Given the description of an element on the screen output the (x, y) to click on. 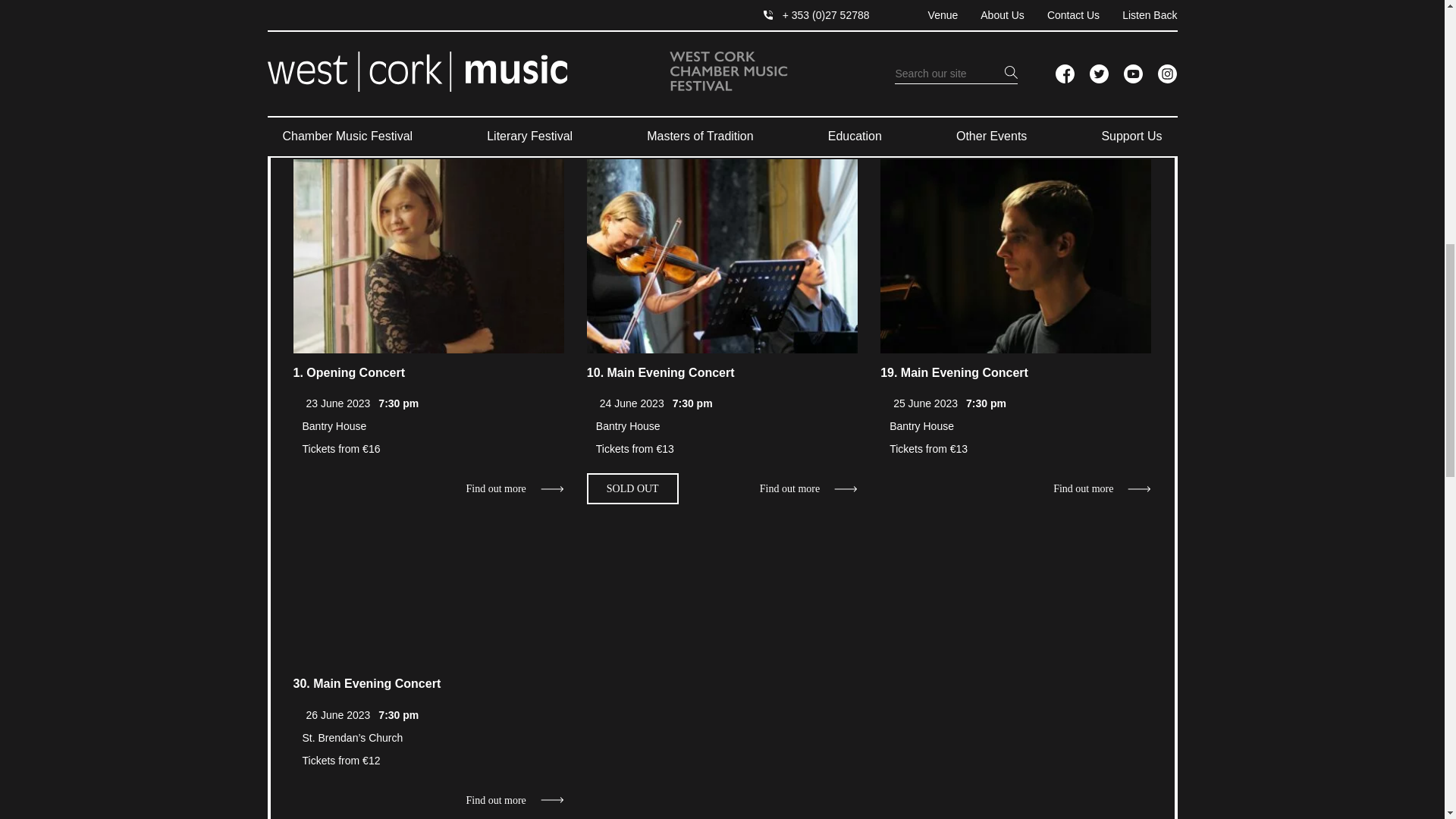
Read More (808, 489)
Read More (427, 255)
Read More (1101, 489)
Read More (721, 255)
SOLD OUT (632, 489)
Read More (514, 489)
Read More (1015, 255)
